Given the description of an element on the screen output the (x, y) to click on. 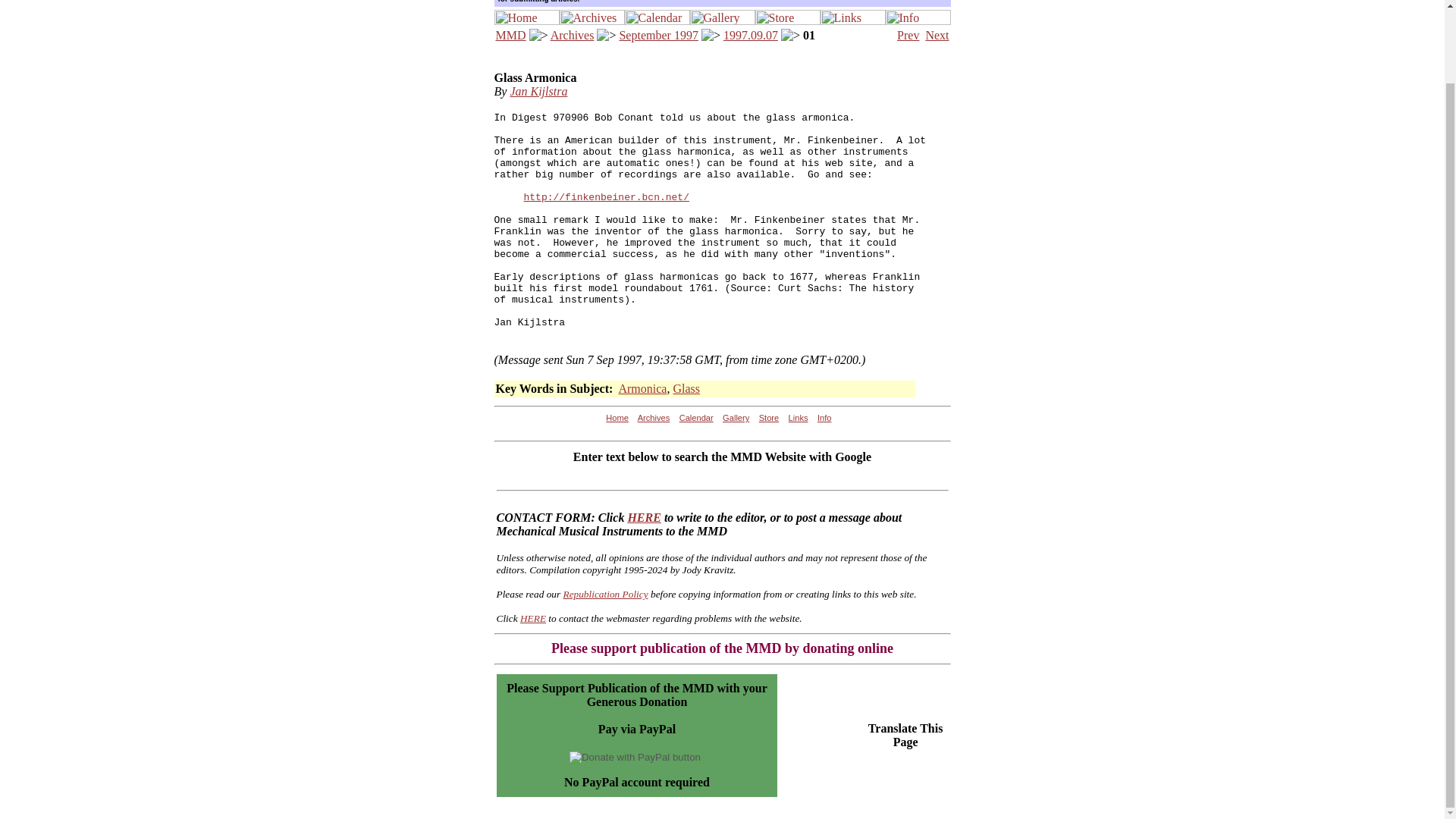
1997.09.07 (750, 34)
Jan Kijlstra (538, 91)
Calendar (696, 417)
September 1997 (657, 34)
HERE (532, 618)
Archives (572, 34)
Glass (686, 388)
Archives (653, 417)
Home (616, 417)
Prev (907, 34)
Next (936, 34)
MMD (510, 34)
Links (798, 417)
Store (768, 417)
Info (823, 417)
